Given the description of an element on the screen output the (x, y) to click on. 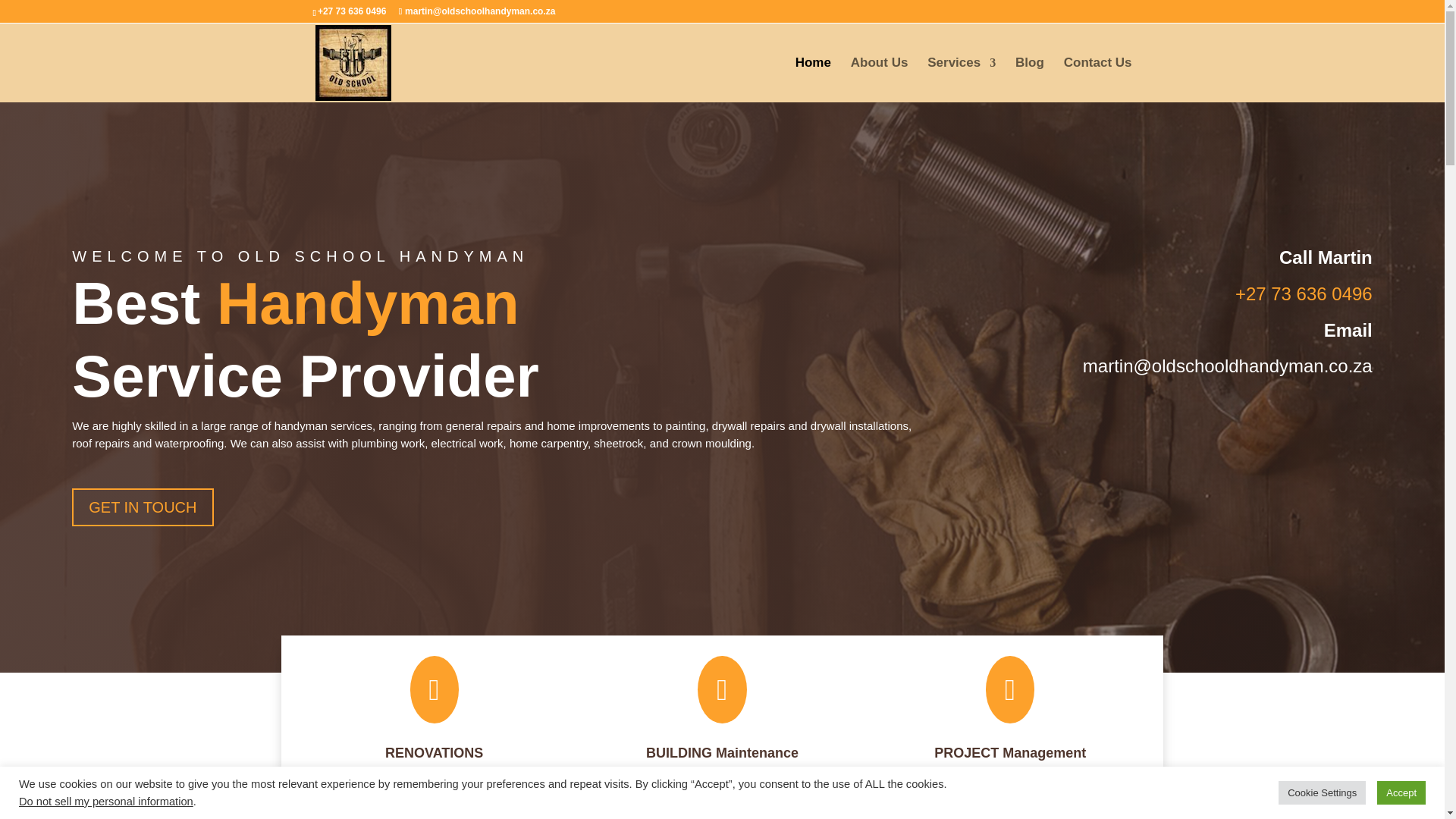
Services (961, 79)
Contact Us (1098, 79)
GET IN TOUCH (141, 507)
About Us (879, 79)
